Given the description of an element on the screen output the (x, y) to click on. 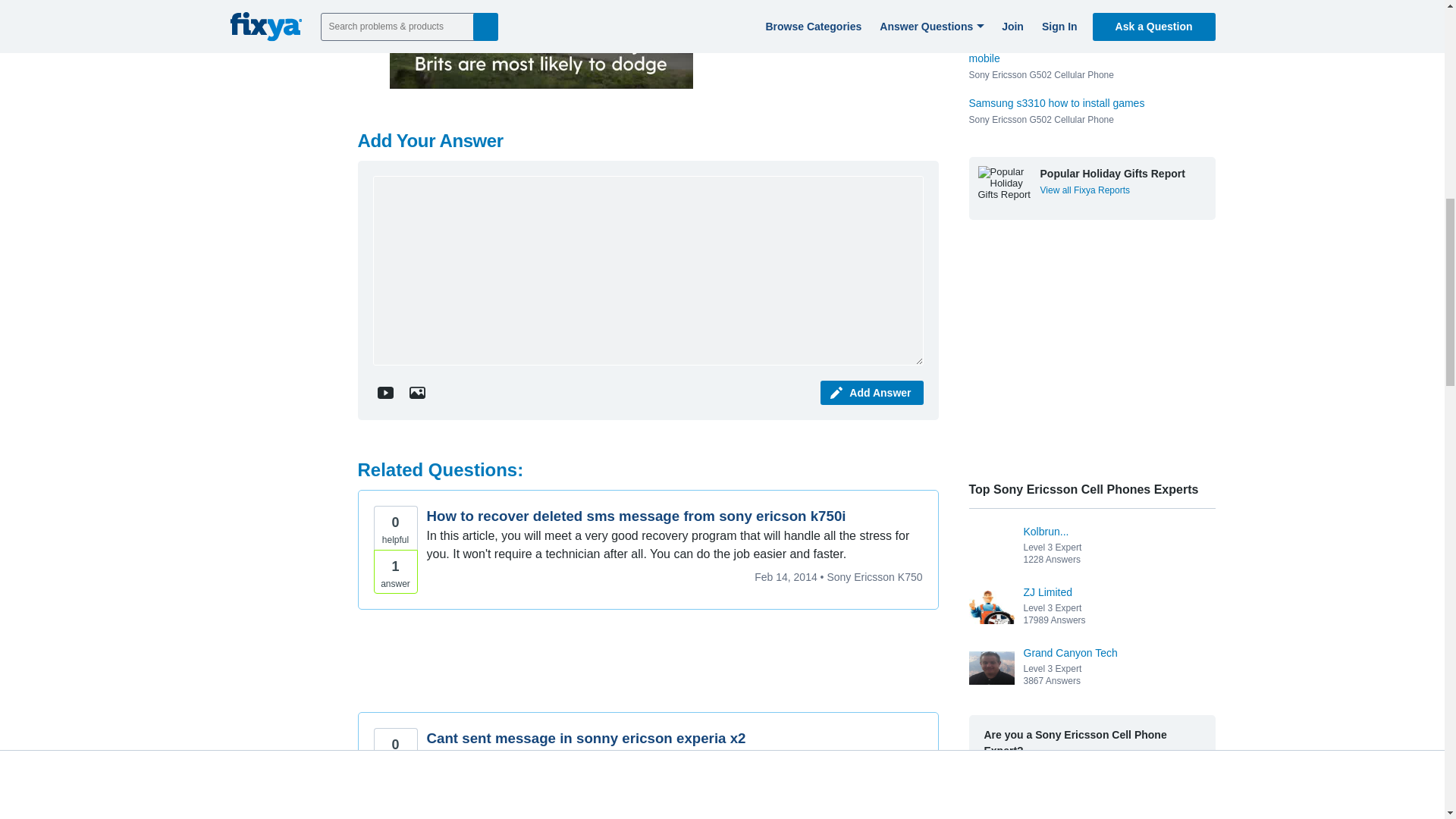
Add Answer (872, 392)
